Given the description of an element on the screen output the (x, y) to click on. 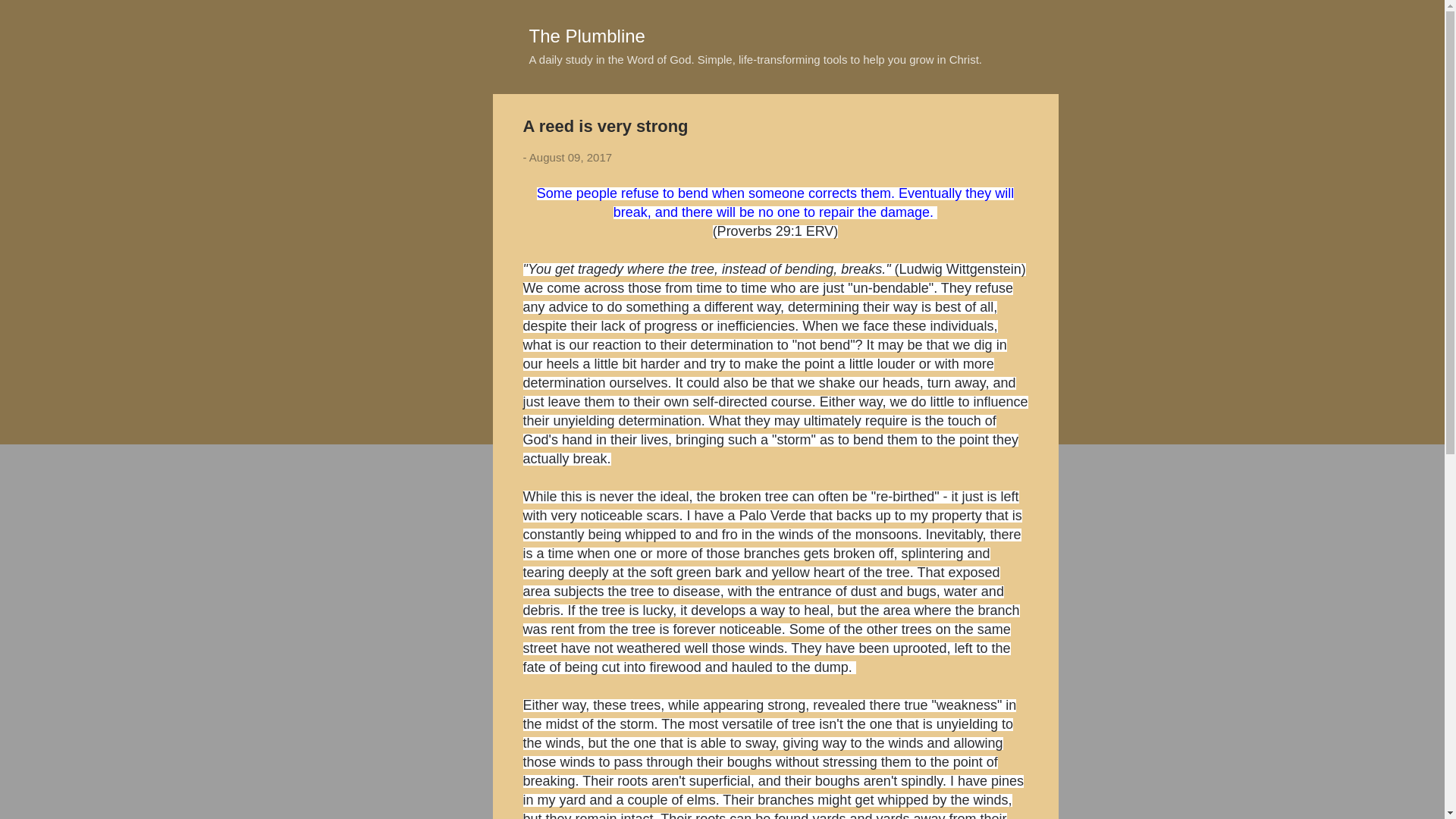
permanent link (570, 156)
Search (29, 18)
August 09, 2017 (570, 156)
The Plumbline (587, 35)
